Given the description of an element on the screen output the (x, y) to click on. 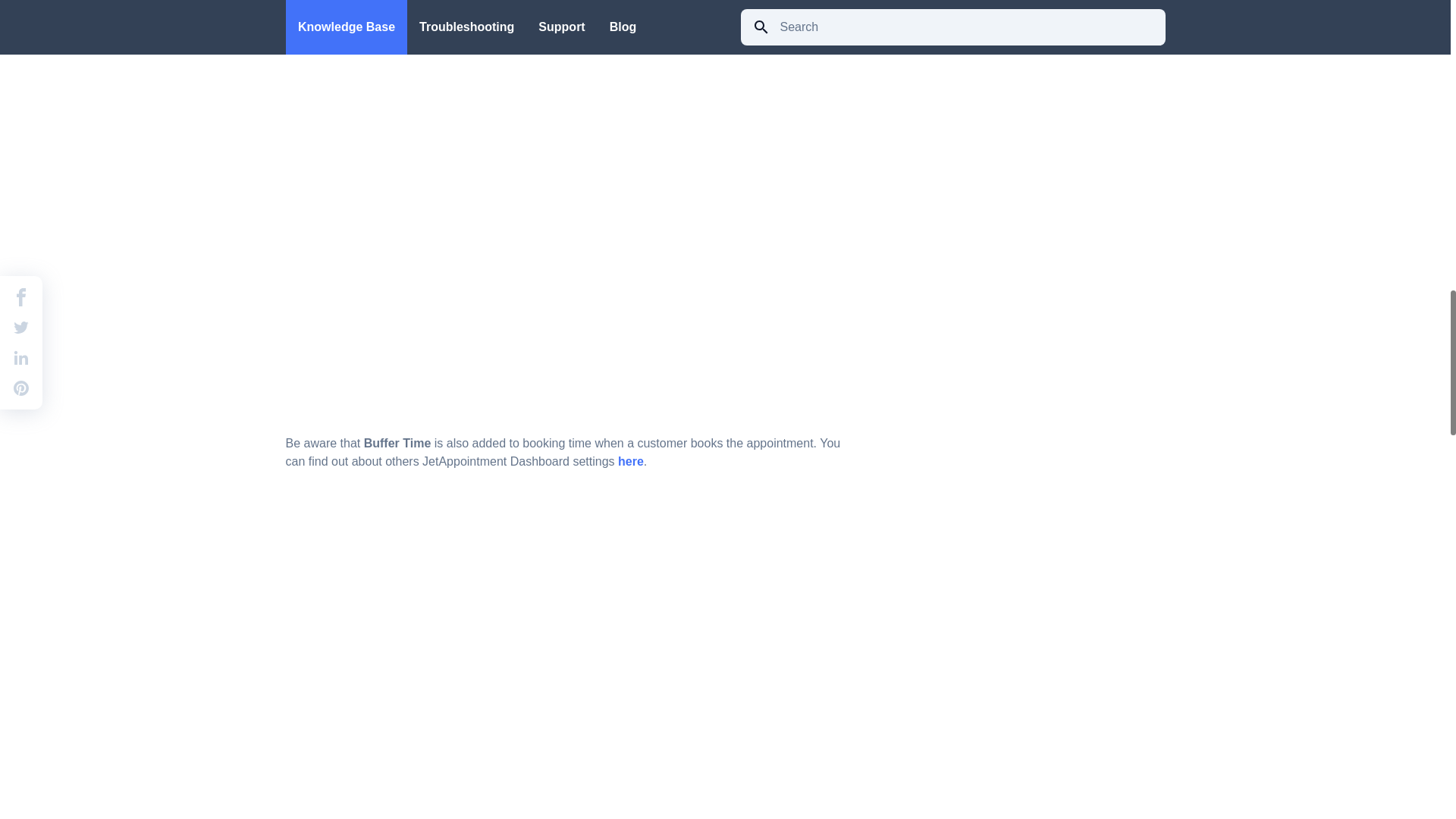
here (630, 461)
